Given the description of an element on the screen output the (x, y) to click on. 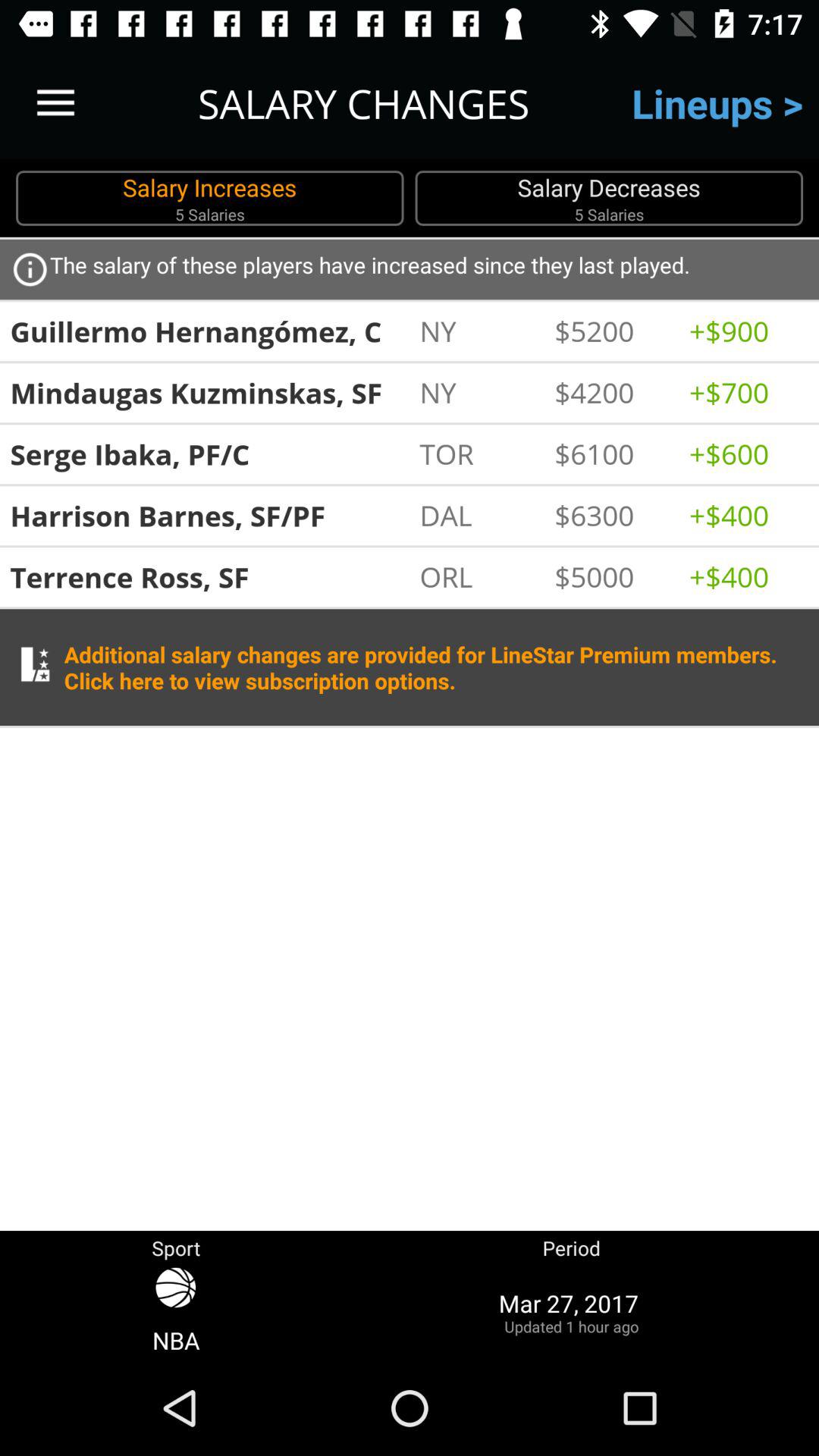
select icon below the salary of icon (613, 330)
